Given the description of an element on the screen output the (x, y) to click on. 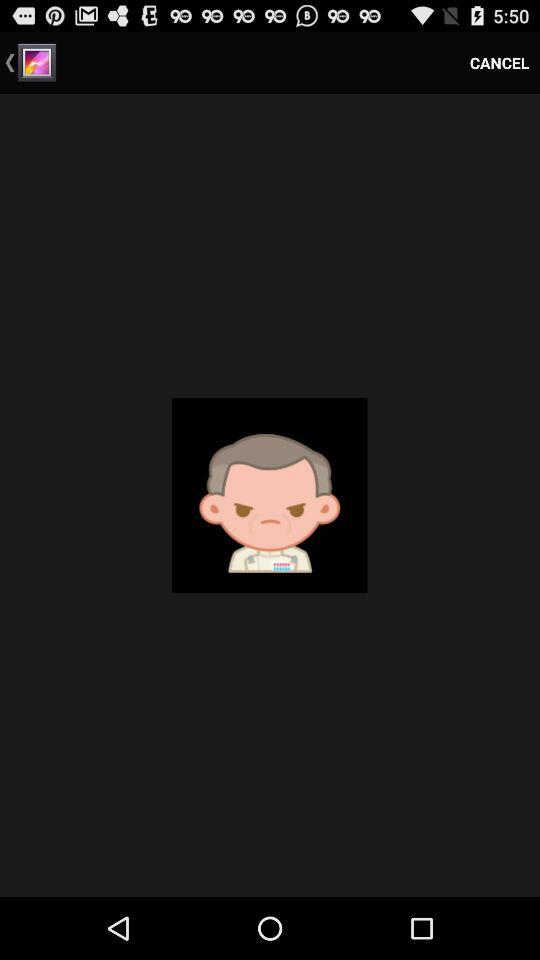
press the item at the top right corner (499, 62)
